Given the description of an element on the screen output the (x, y) to click on. 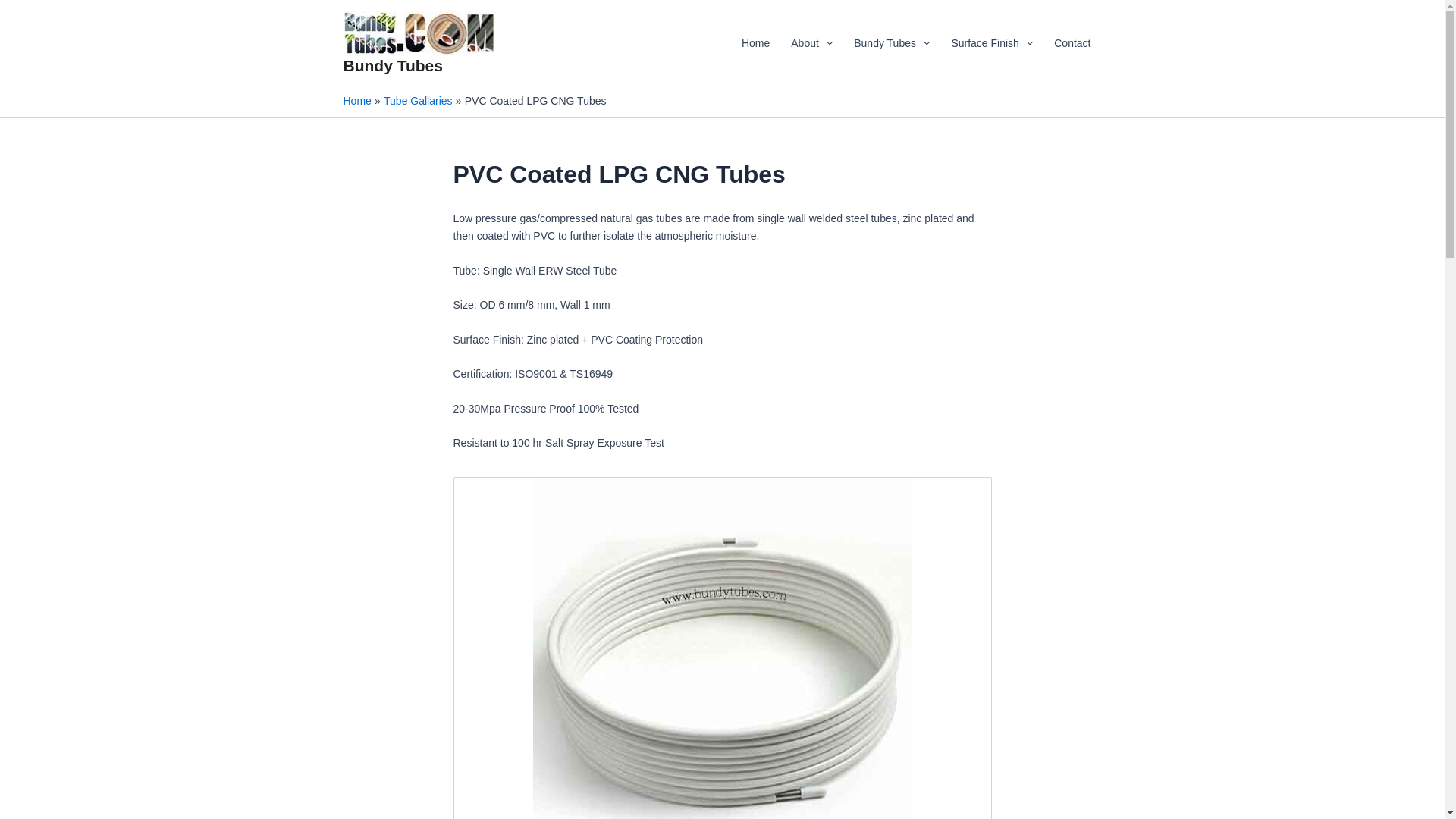
Contact (1071, 43)
About (811, 43)
Bundy Tubes (891, 43)
Bundy Tubes (392, 65)
Surface Finish (991, 43)
